Given the description of an element on the screen output the (x, y) to click on. 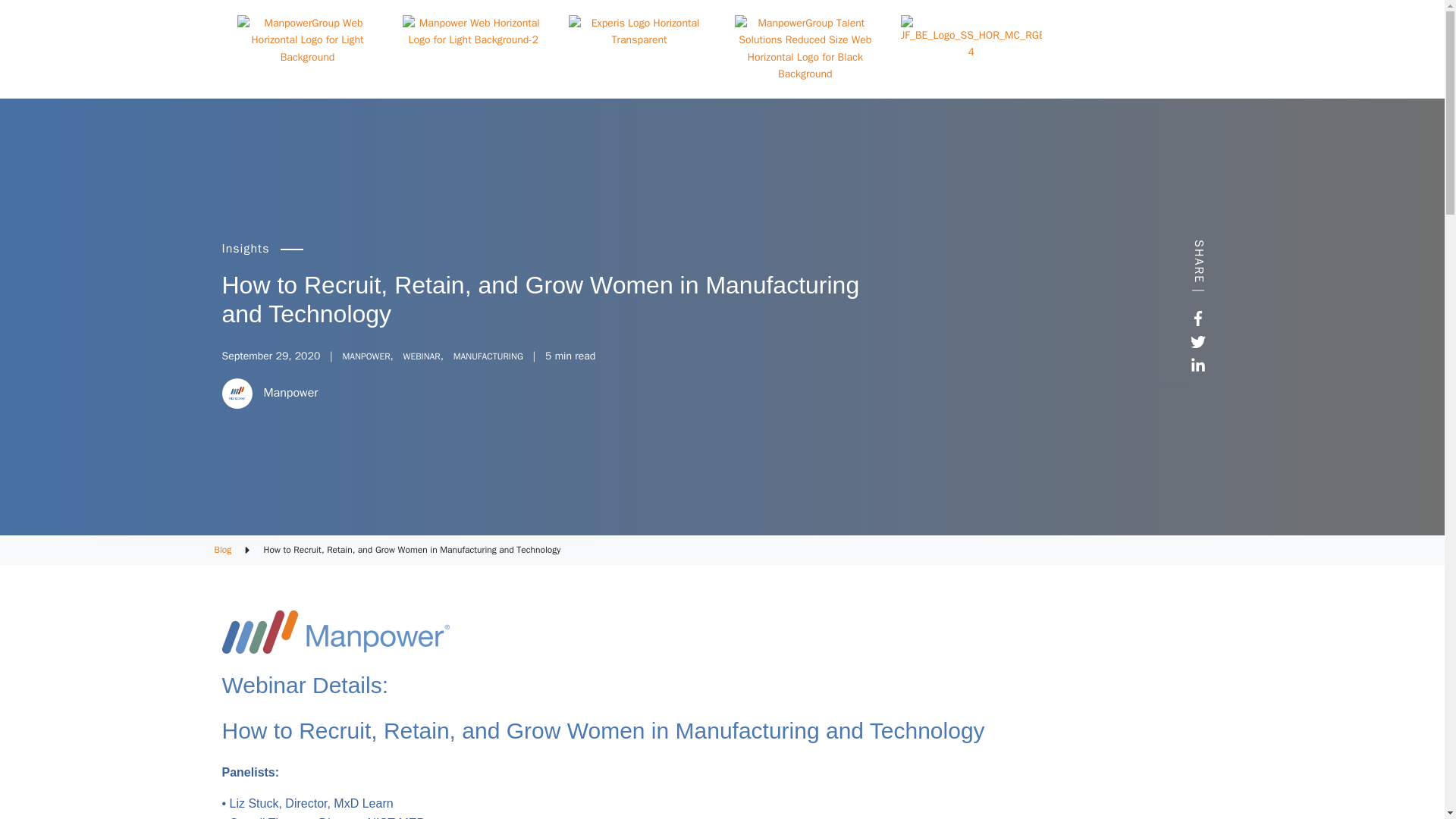
WEBINAR (422, 356)
MANUFACTURING (487, 356)
Manpower Web Horizontal Logo for Light Background-2 (473, 32)
Experis Logo Horizontal Transparent (639, 32)
ManpowerGroup Web Horizontal Logo for Light Background (306, 40)
Manpower (290, 392)
Blog (222, 549)
MANPOWER (366, 356)
